Given the description of an element on the screen output the (x, y) to click on. 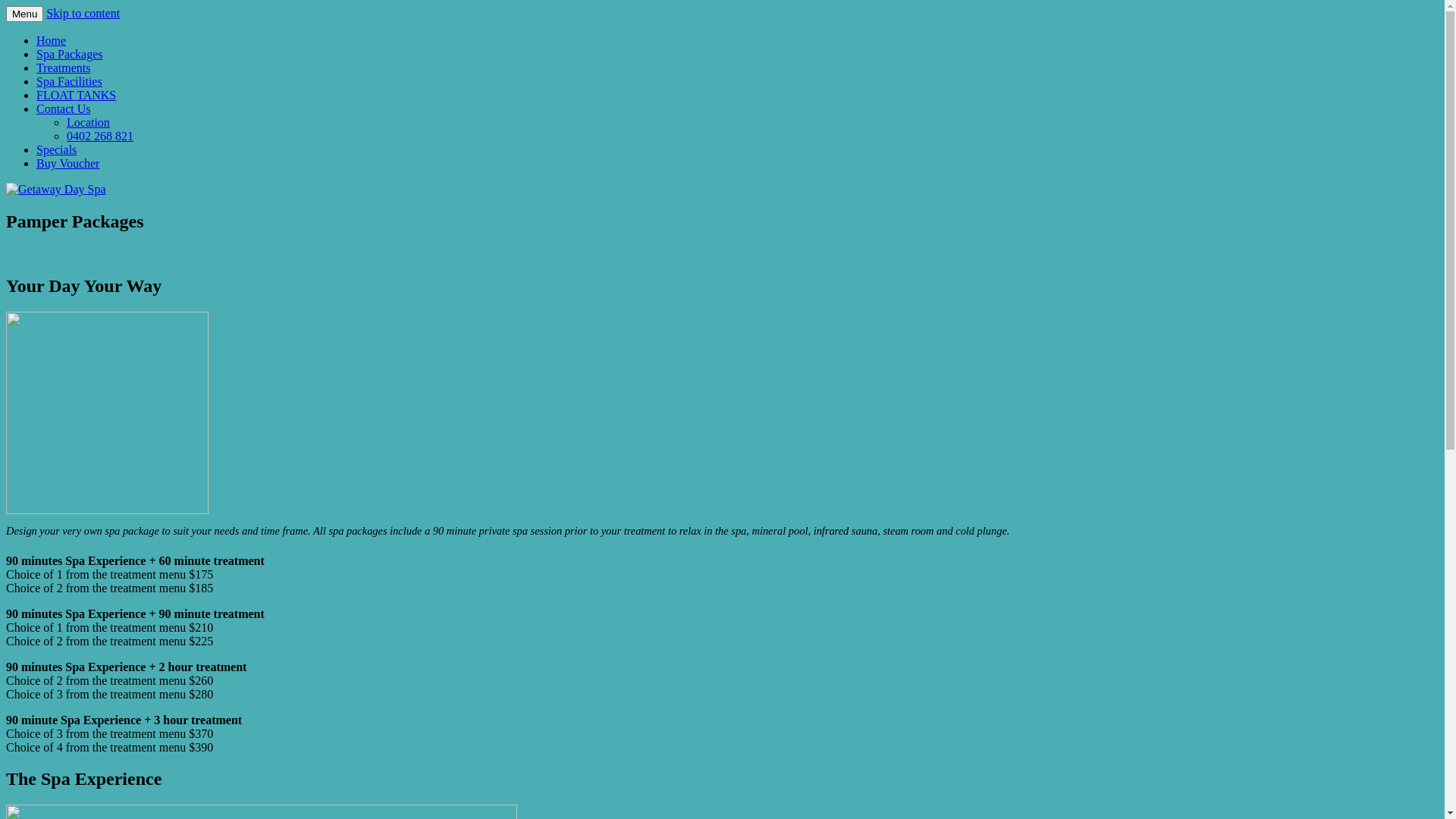
0402 268 821 Element type: text (99, 135)
Spa Facilities Element type: text (69, 81)
Getaway Day Spa Element type: text (98, 35)
Treatments Element type: text (63, 67)
Menu Element type: text (24, 13)
Buy Voucher Element type: text (67, 162)
Specials Element type: text (56, 149)
Home Element type: text (50, 40)
Contact Us Element type: text (63, 108)
Spa Packages Element type: text (69, 53)
Skip to content Element type: text (82, 12)
Location Element type: text (87, 122)
FLOAT TANKS Element type: text (76, 94)
